Given the description of an element on the screen output the (x, y) to click on. 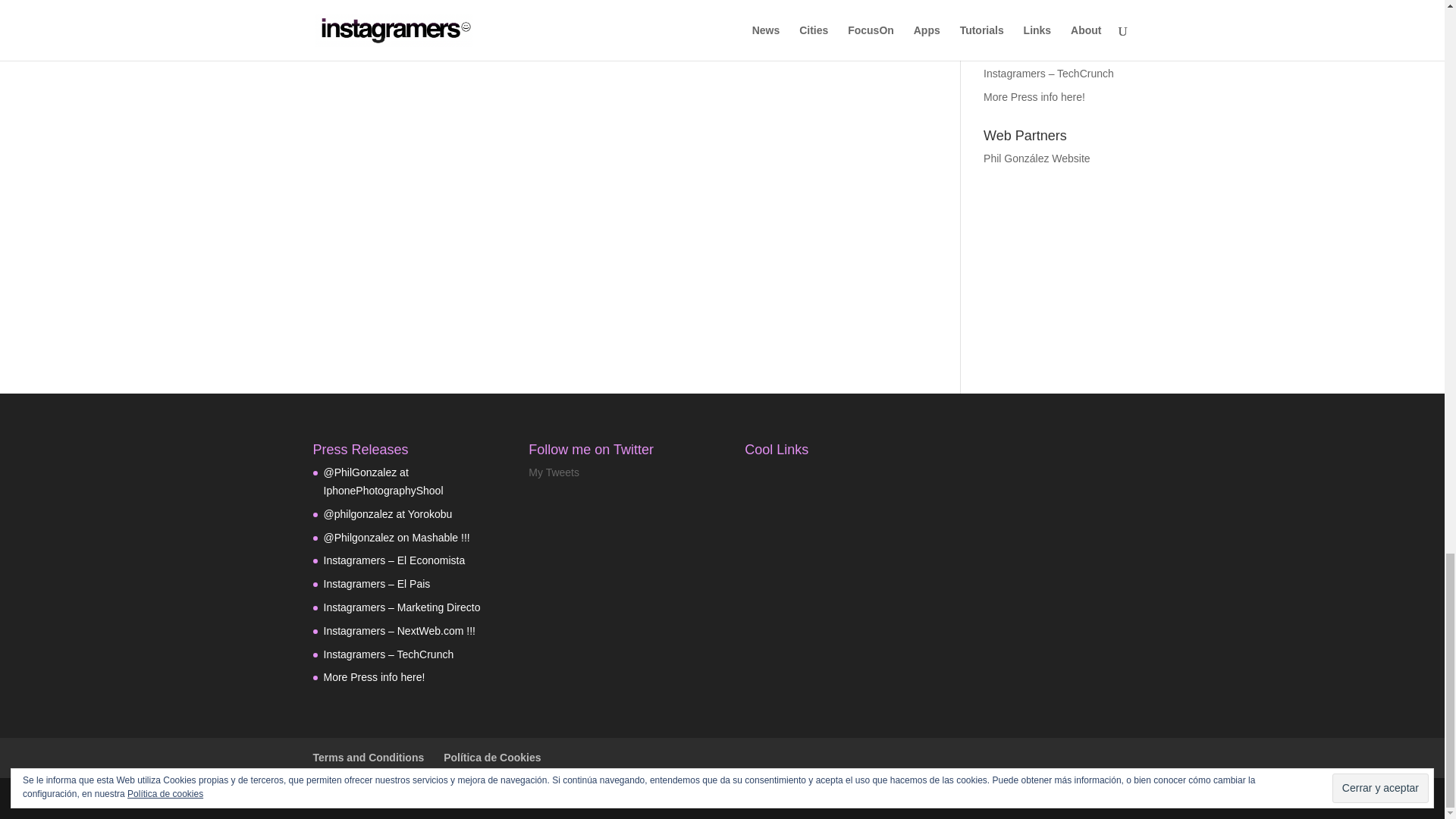
Copygram and Instagramers at TechCrunch (1048, 73)
Instagramers en Yorokobu (387, 513)
Instagramers Marketing directo (1043, 7)
